Given the description of an element on the screen output the (x, y) to click on. 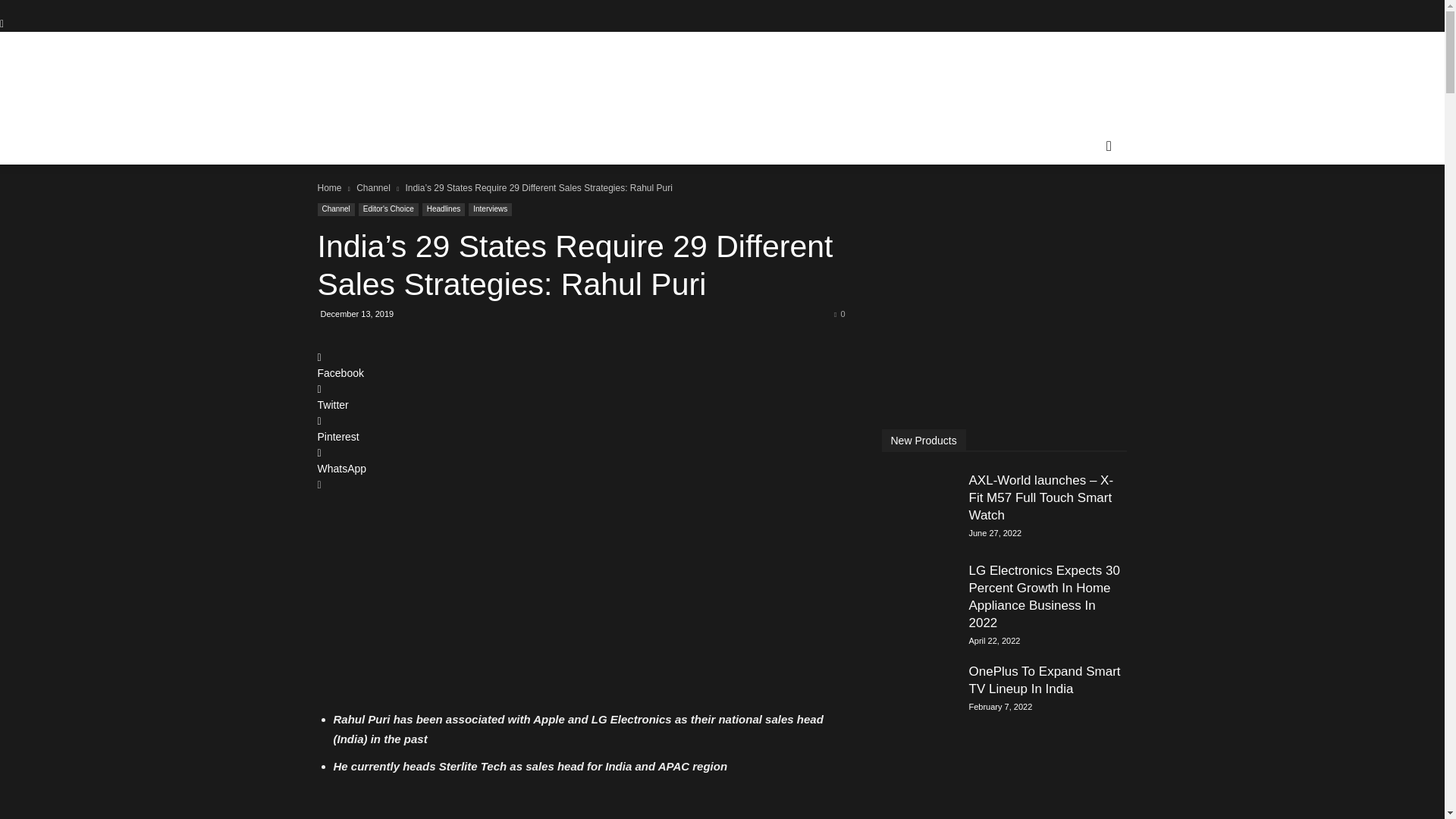
ACE (445, 117)
CHANNEL (353, 145)
